Given the description of an element on the screen output the (x, y) to click on. 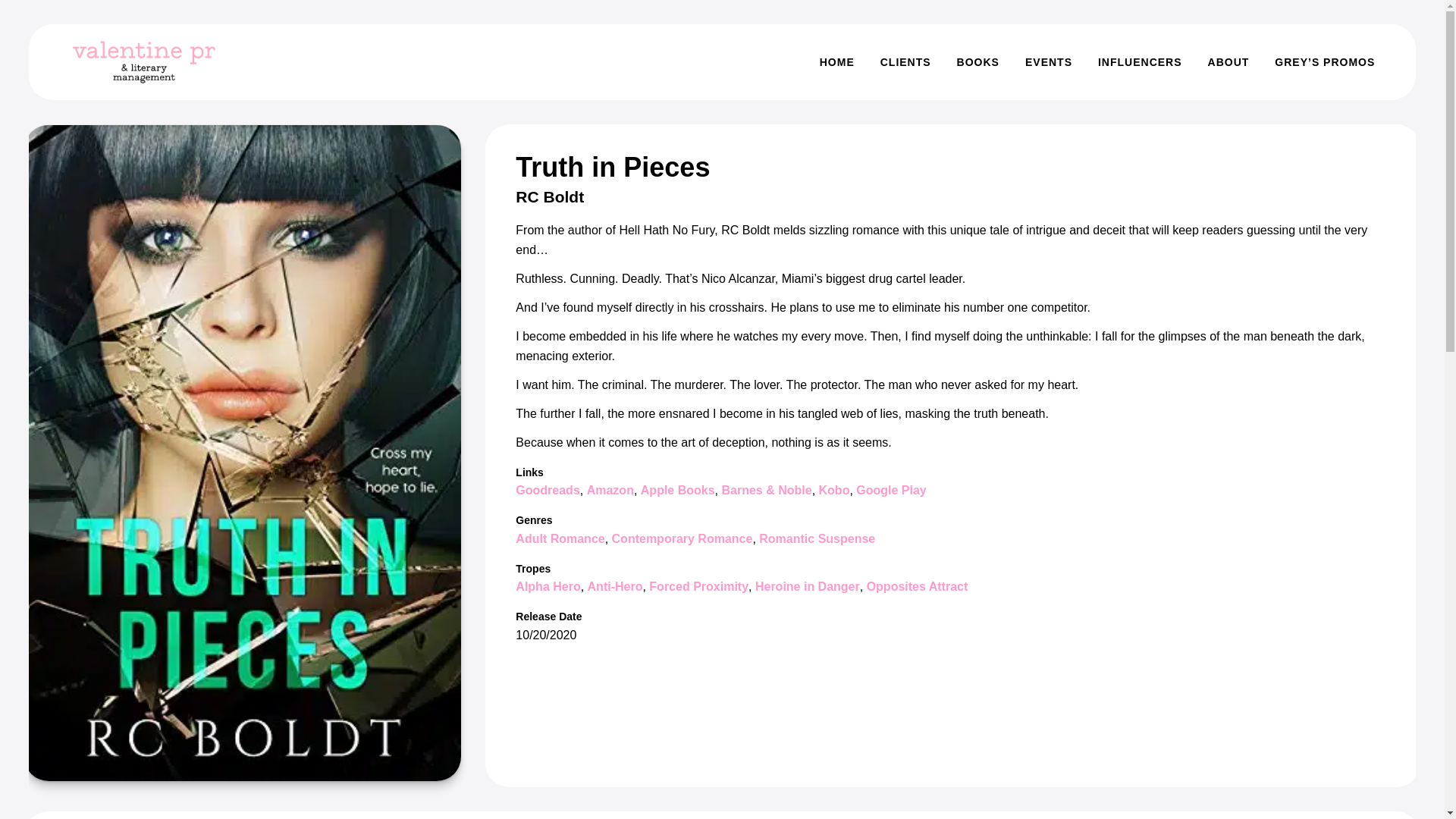
Adult Romance (559, 538)
Apple Books (677, 490)
Heroine in Danger (807, 585)
ABOUT (1228, 61)
INFLUENCERS (1139, 61)
Alpha Hero (547, 585)
Kobo (834, 490)
Opposites Attract (917, 585)
Forced Proximity (698, 585)
Anti-Hero (615, 585)
CLIENTS (905, 61)
BOOKS (977, 61)
Google Play (891, 490)
Contemporary Romance (681, 538)
RC Boldt (549, 196)
